Given the description of an element on the screen output the (x, y) to click on. 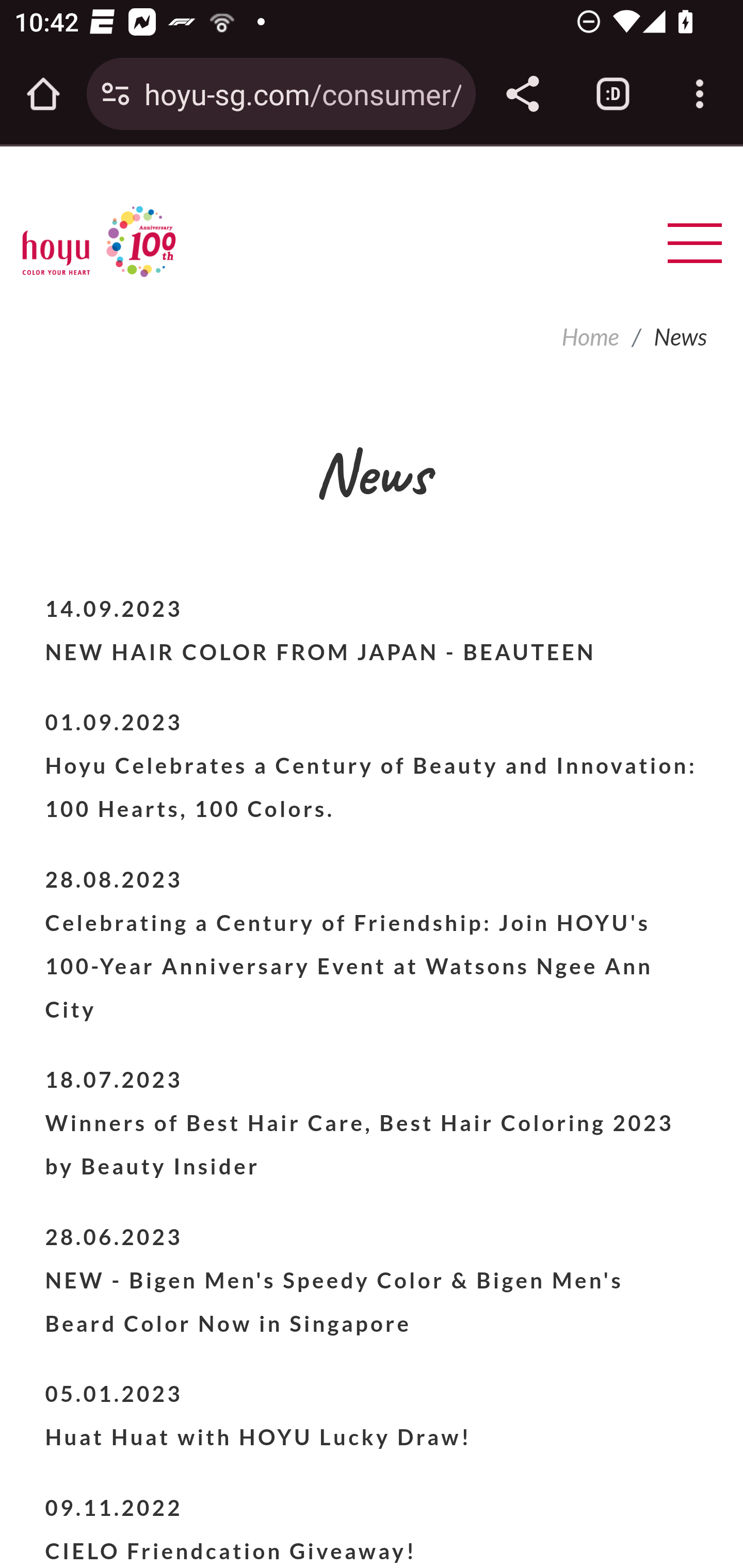
Open the home page (43, 93)
Connection is secure (115, 93)
Share (522, 93)
Switch or close tabs (612, 93)
Customize and control Google Chrome (699, 93)
hoyu-sg.com/consumer/news/index (302, 92)
hoyu Singapore (98, 241)
Home (588, 336)
NEW HAIR COLOR FROM JAPAN - BEAUTEEN (320, 651)
Huat Huat with HOYU Lucky Draw! (258, 1436)
CIELO Friendcation Giveaway! (229, 1550)
